Given the description of an element on the screen output the (x, y) to click on. 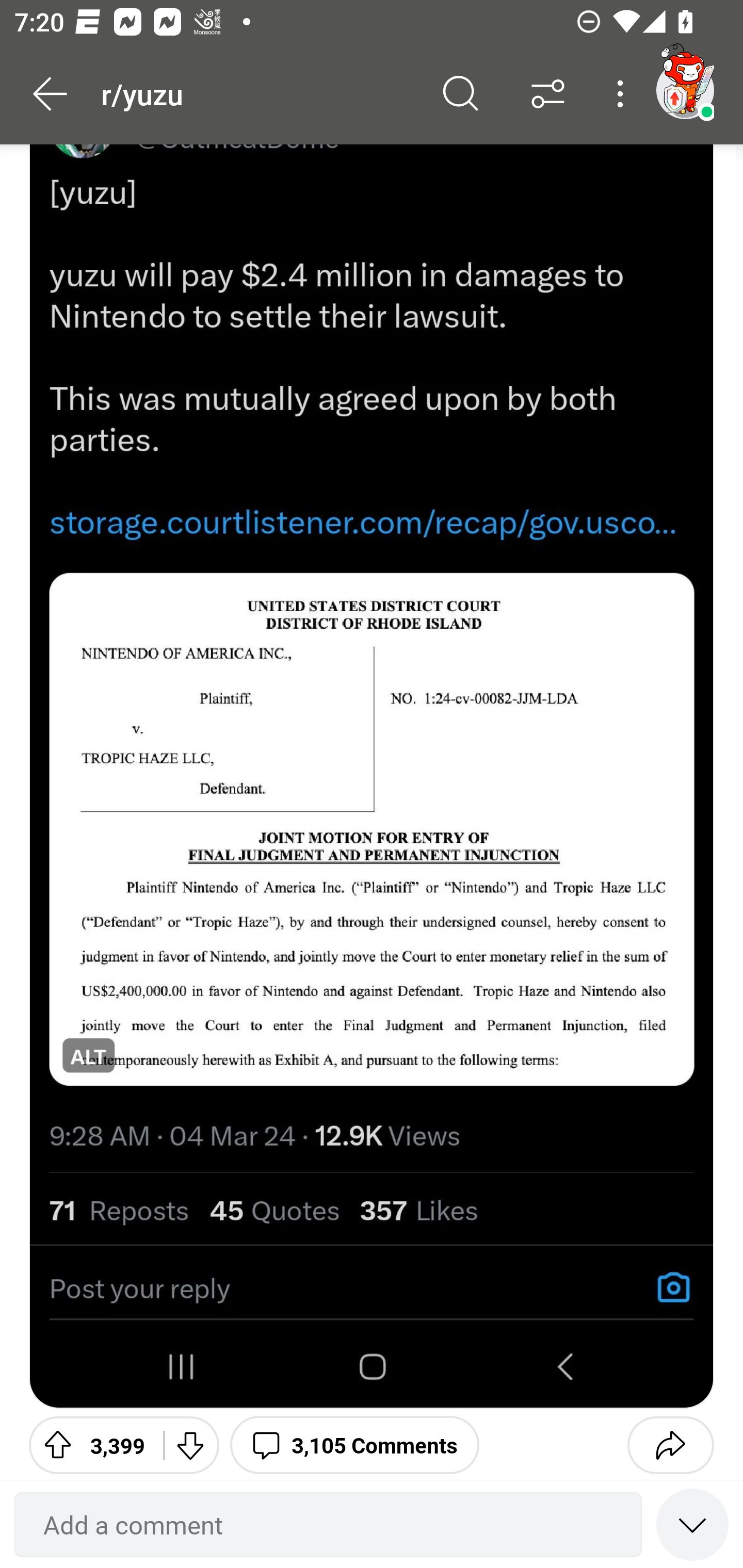
Back (50, 93)
TestAppium002 account (685, 90)
Search comments (460, 93)
Sort comments (547, 93)
More options (623, 93)
r/yuzu (259, 92)
Image (371, 776)
Upvote 3,399 (88, 1444)
Downvote (189, 1444)
3,105 Comments (354, 1444)
Share (670, 1444)
Speed read (692, 1524)
Add a comment (327, 1524)
